Given the description of an element on the screen output the (x, y) to click on. 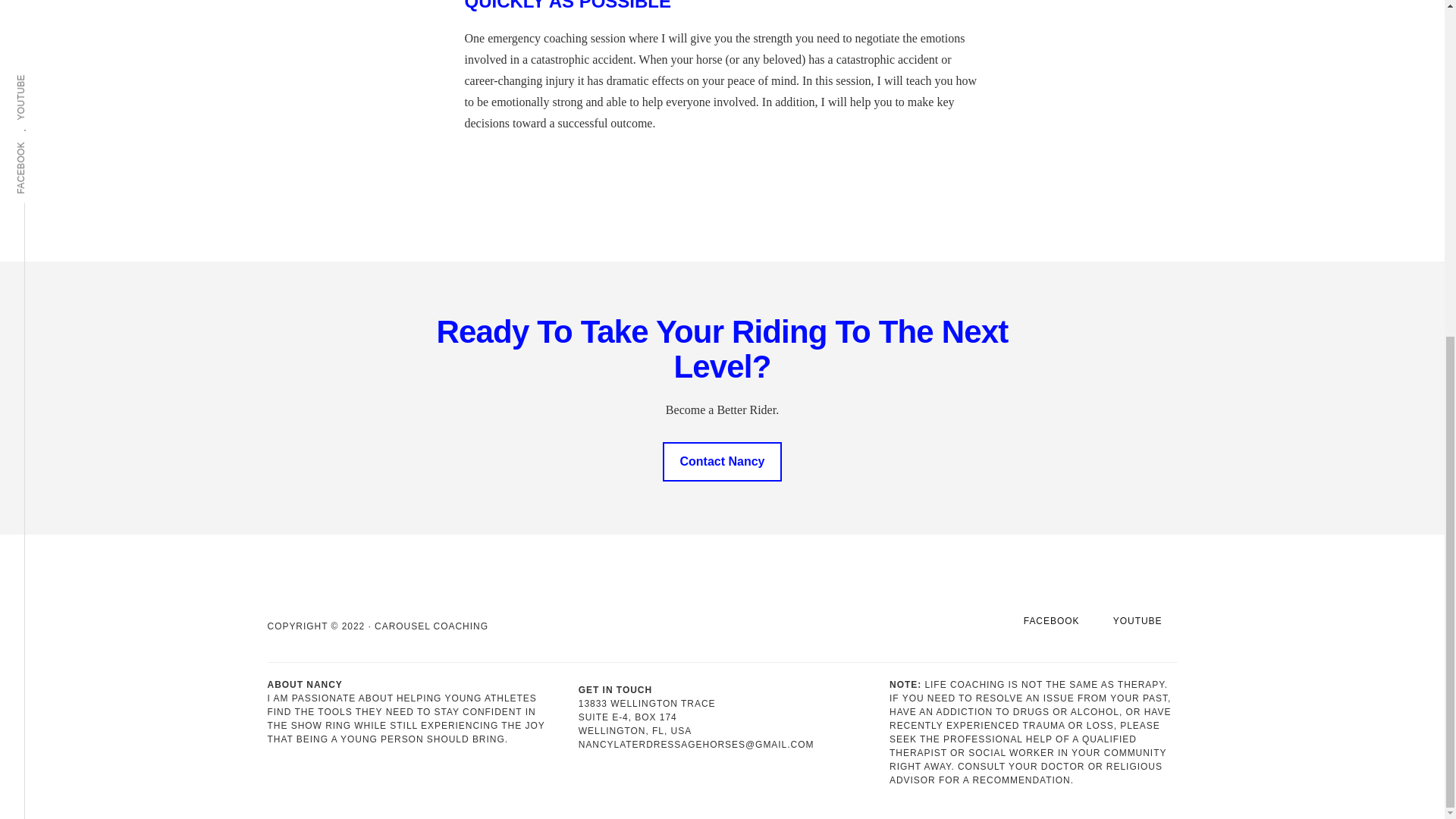
Contact Nancy (721, 461)
YOUTUBE (1137, 620)
FACEBOOK (1051, 620)
